Given the description of an element on the screen output the (x, y) to click on. 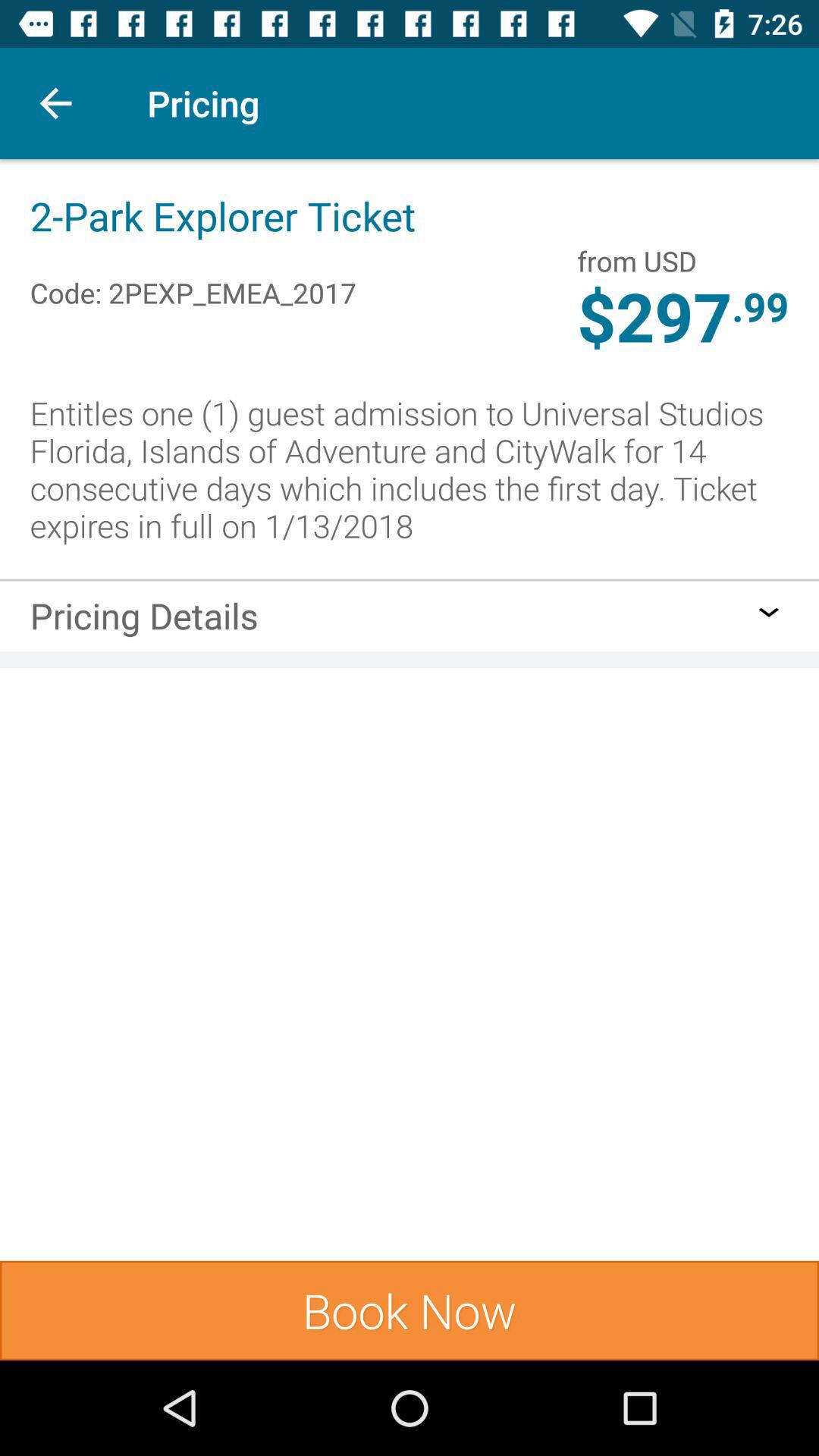
press icon above the book now item (768, 612)
